Given the description of an element on the screen output the (x, y) to click on. 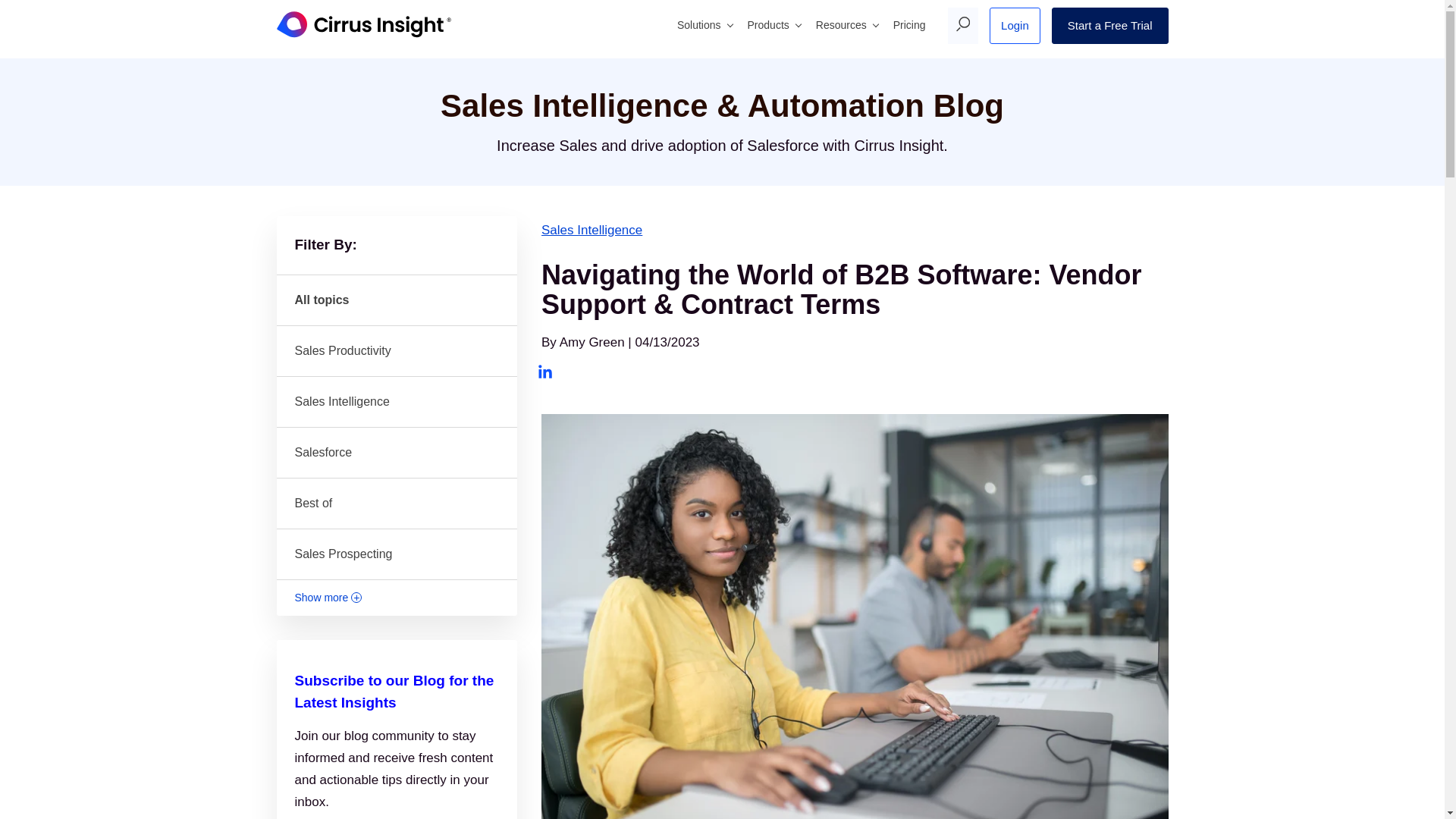
Pricing (909, 25)
Resources (846, 25)
Solutions (704, 25)
Share this blog post on LinkedIn (545, 371)
Products (773, 25)
